Given the description of an element on the screen output the (x, y) to click on. 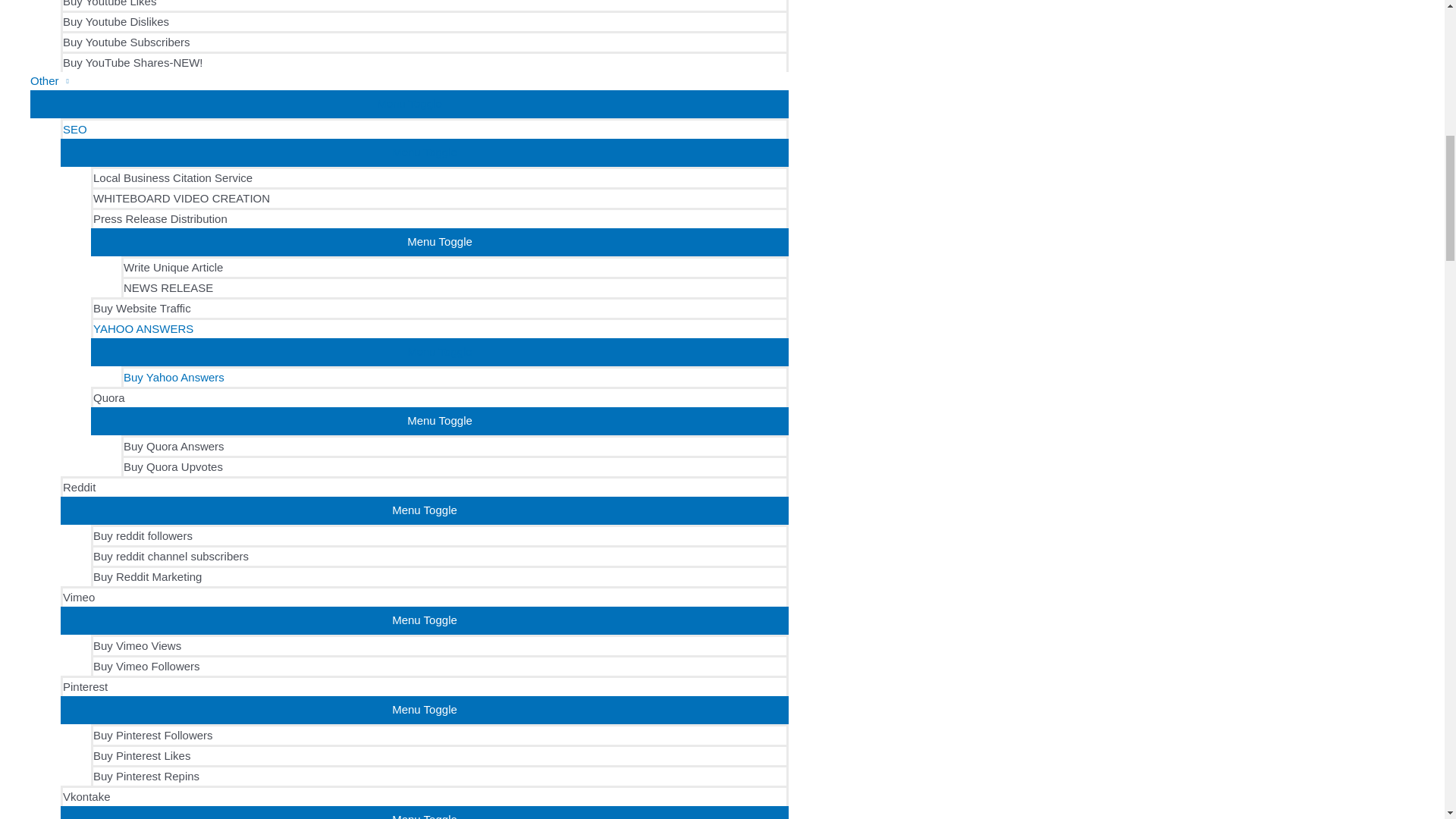
Buy Youtube Likes (425, 5)
Buy Youtube Subscribers (425, 41)
Buy Youtube Dislikes (425, 20)
